Given the description of an element on the screen output the (x, y) to click on. 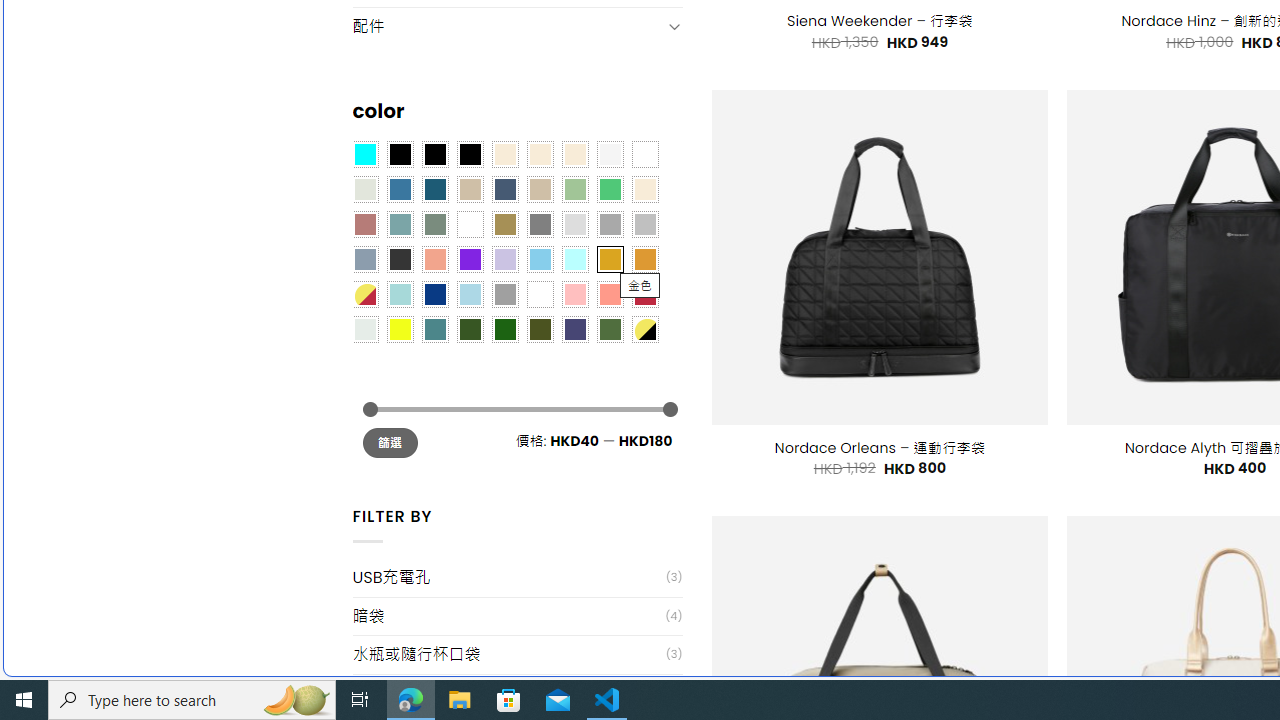
Dull Nickle (364, 329)
